Given the description of an element on the screen output the (x, y) to click on. 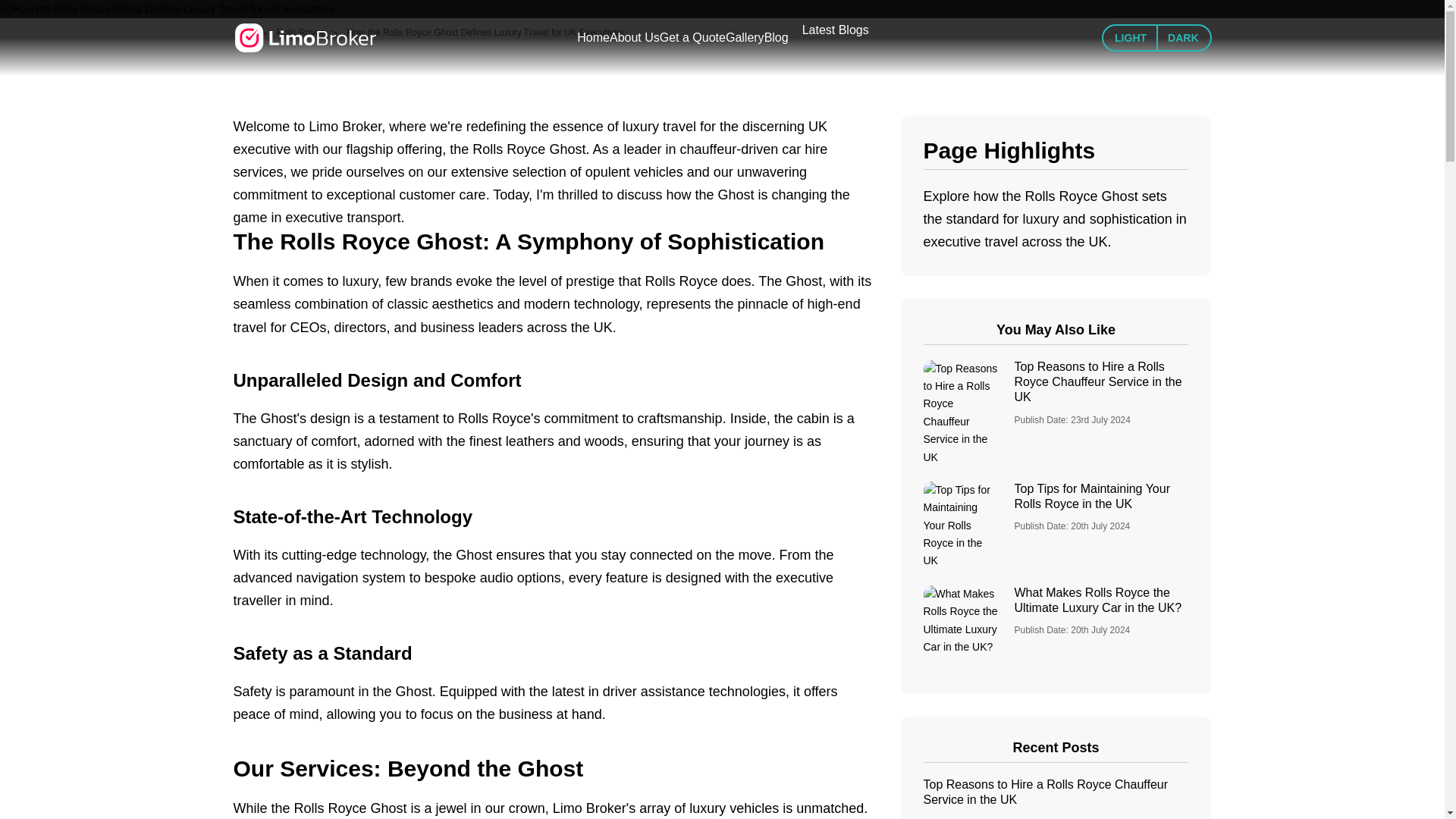
Latest Blogs (835, 30)
Get a Quote (692, 37)
Get a Quote (692, 37)
Latest Blogs (835, 30)
Limo Broker (304, 37)
